Given the description of an element on the screen output the (x, y) to click on. 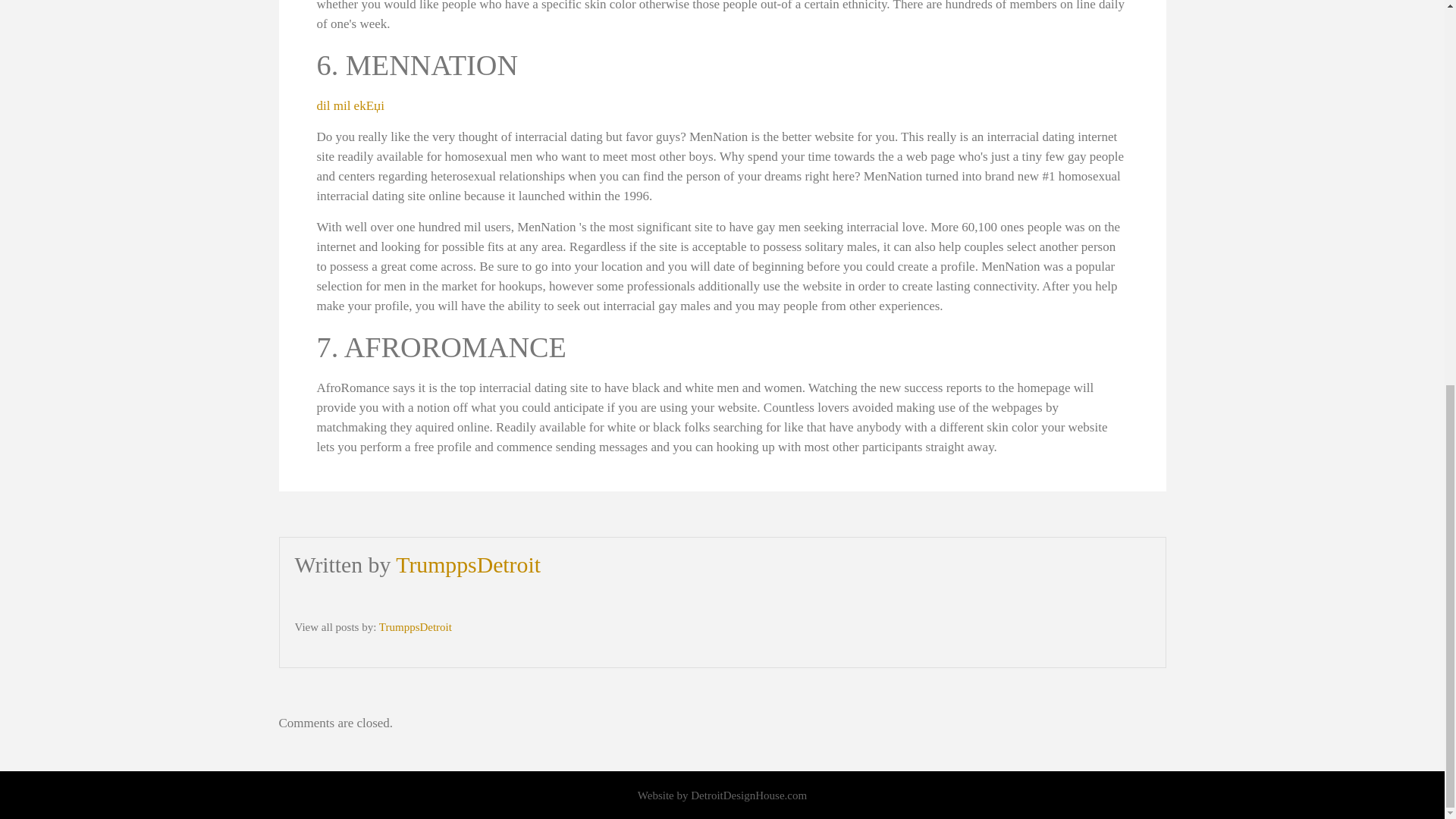
Posts by TrumppsDetroit (414, 625)
TrumppsDetroit (468, 564)
TrumppsDetroit (414, 625)
DetroitDesignHouse.com (748, 794)
Posts by TrumppsDetroit (468, 564)
